Given the description of an element on the screen output the (x, y) to click on. 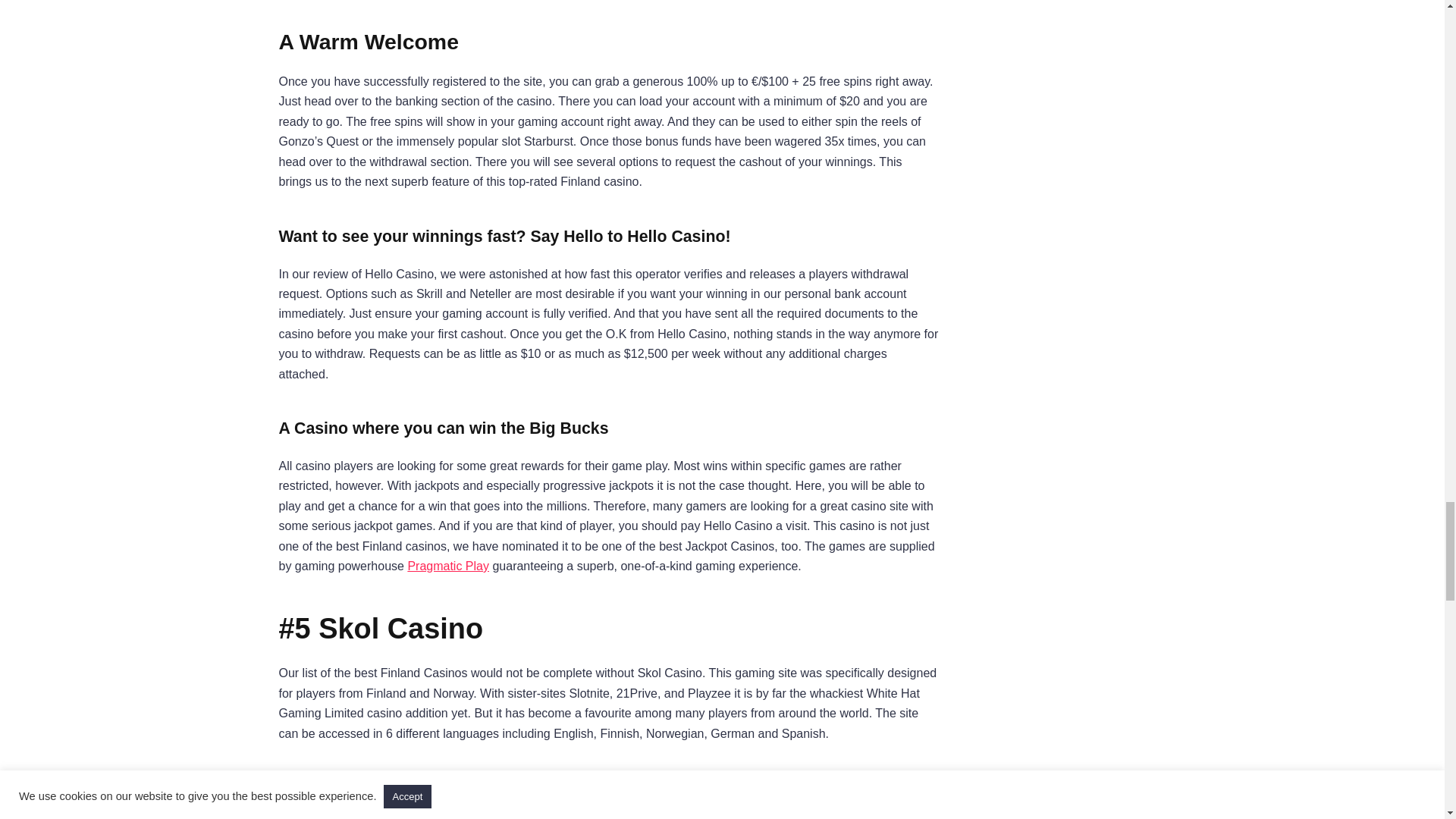
Pragmatic Play (448, 565)
